Given the description of an element on the screen output the (x, y) to click on. 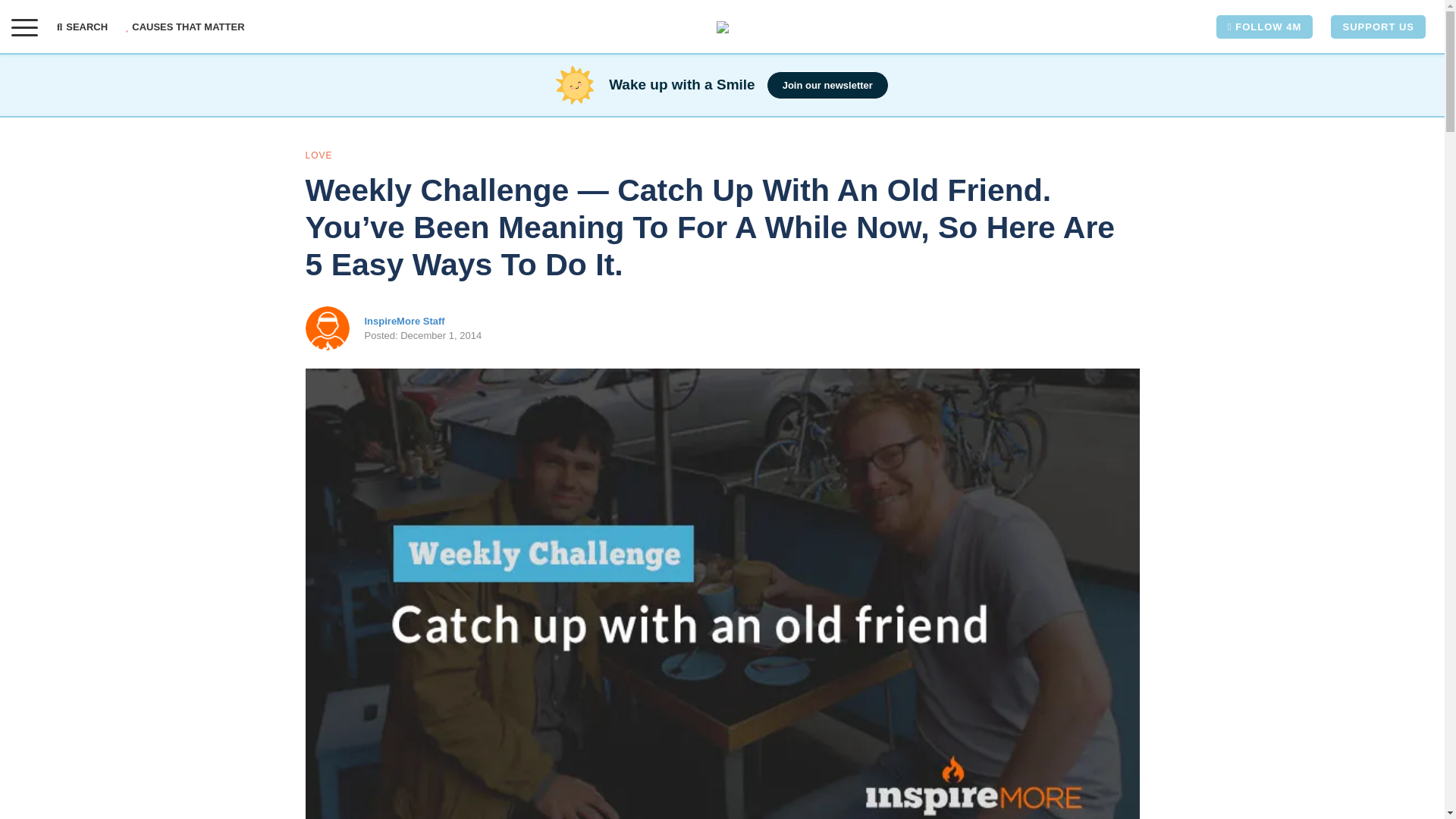
SEARCH (86, 26)
CAUSES THAT MATTER (184, 26)
SUPPORT US (1377, 26)
LOVE (317, 154)
FOLLOW 4M (1264, 26)
InspireMore Staff (404, 320)
Join our newsletter (827, 85)
